Given the description of an element on the screen output the (x, y) to click on. 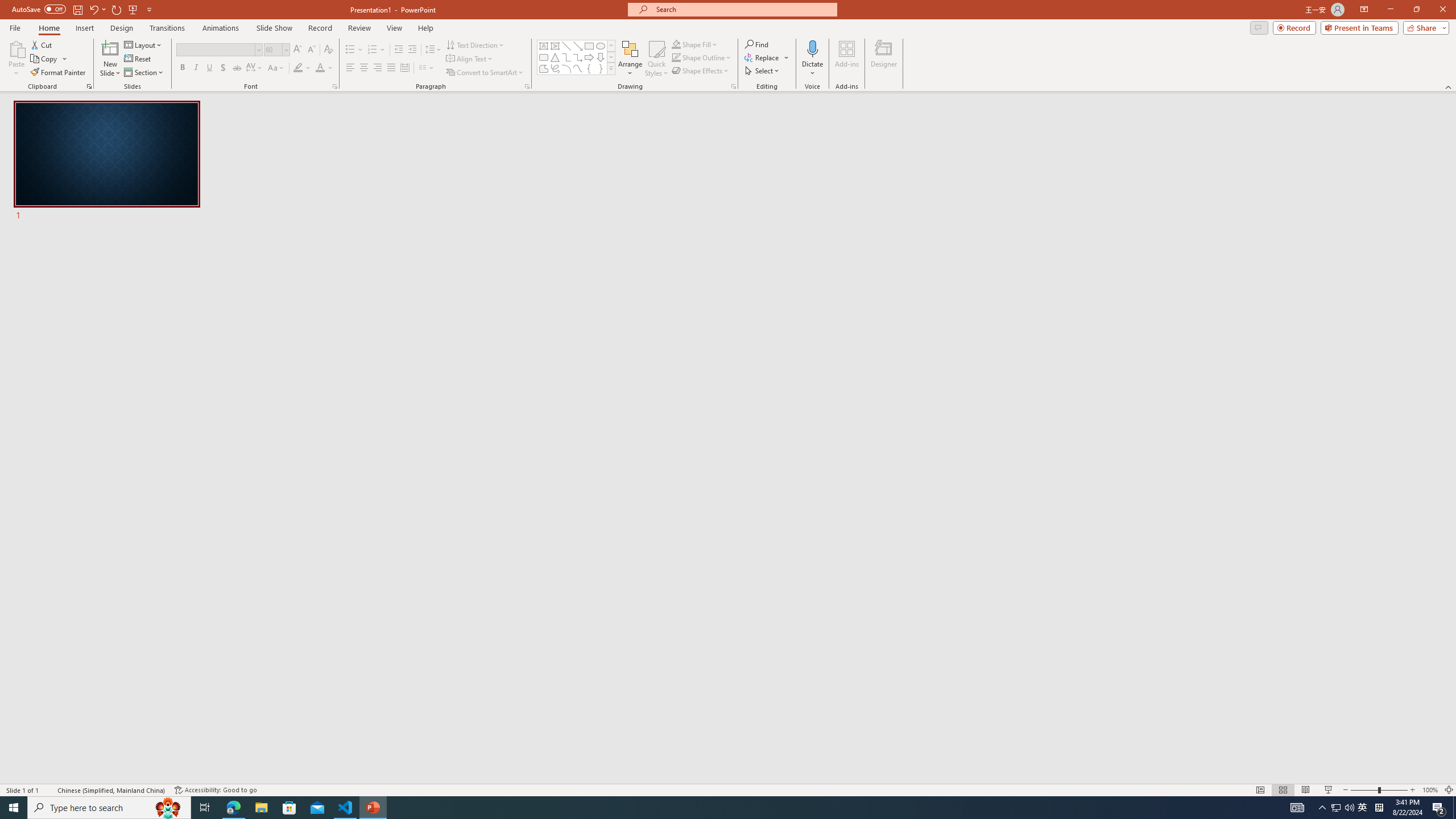
Designer (883, 58)
Numbering (372, 49)
Bullets (349, 49)
Paste (16, 58)
Open (285, 49)
Oval (600, 45)
Text Highlight Color (302, 67)
Cut (42, 44)
Rectangle: Rounded Corners (543, 57)
Bullets (354, 49)
